Given the description of an element on the screen output the (x, y) to click on. 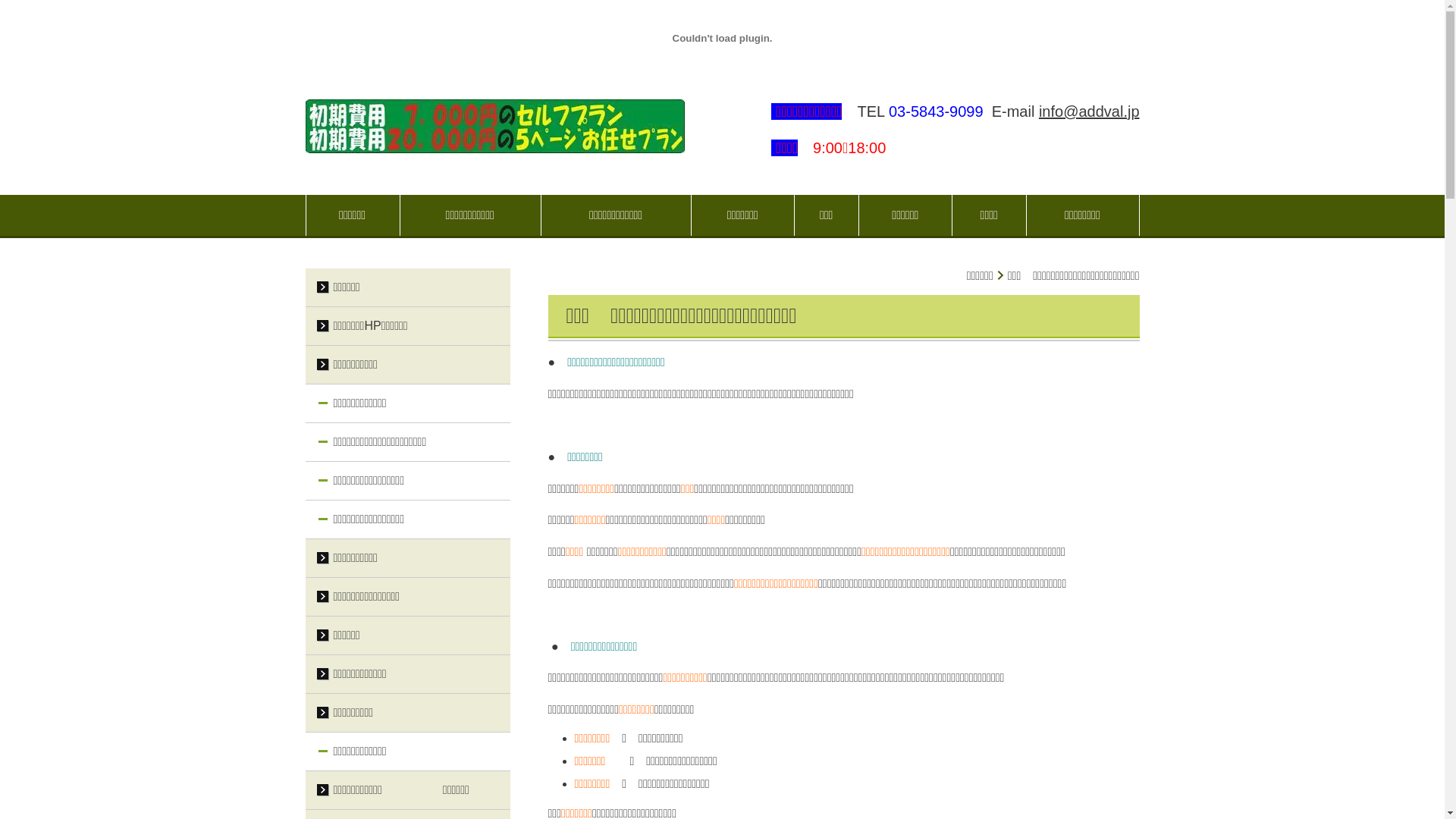
info@addval.jp Element type: text (1088, 111)
